Given the description of an element on the screen output the (x, y) to click on. 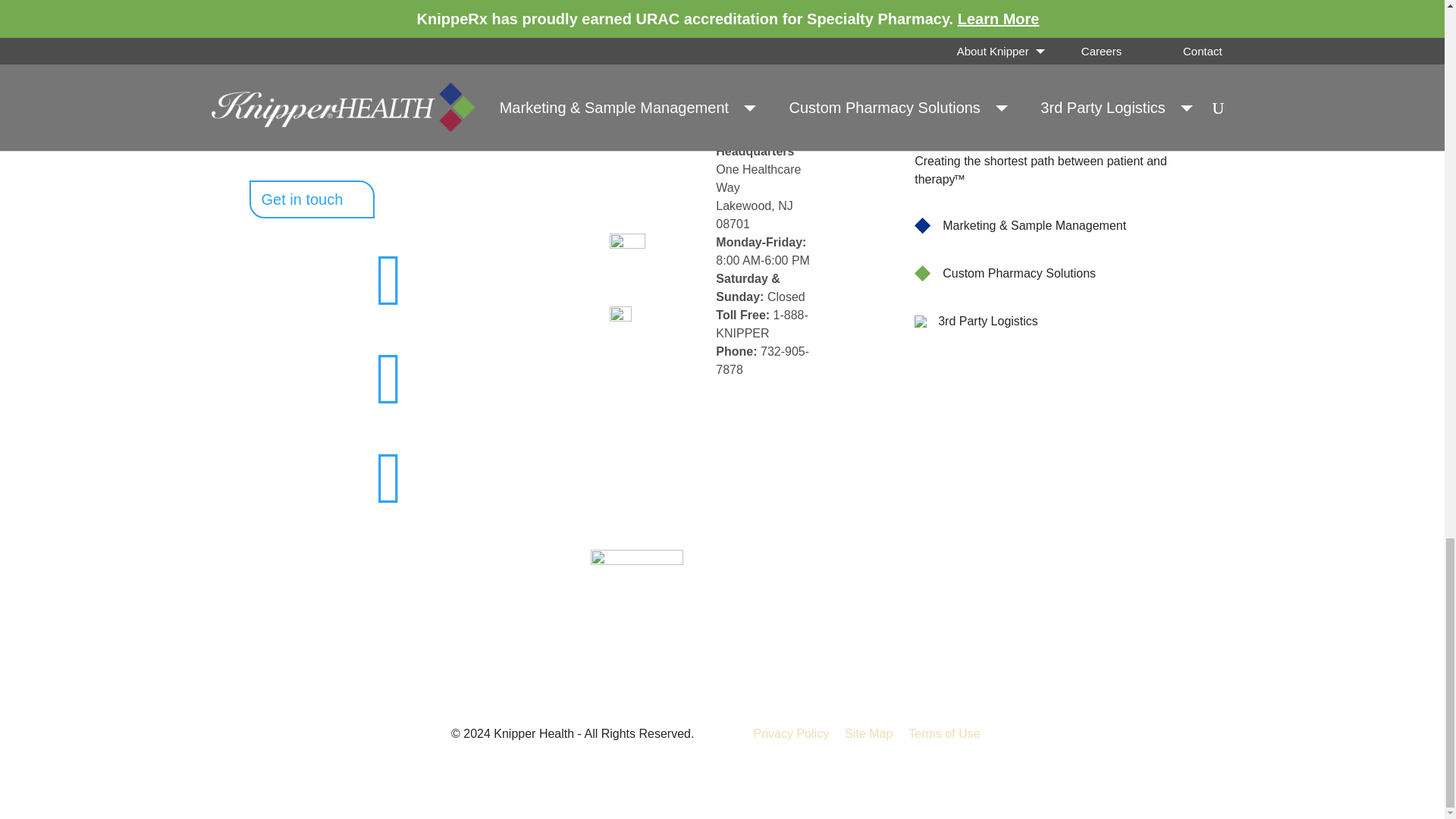
todd-press-v2 (389, 498)
footericon-clock (627, 251)
todd-press-v2 (389, 300)
Group 268 (1054, 99)
todd-press-v2 (389, 399)
